Given the description of an element on the screen output the (x, y) to click on. 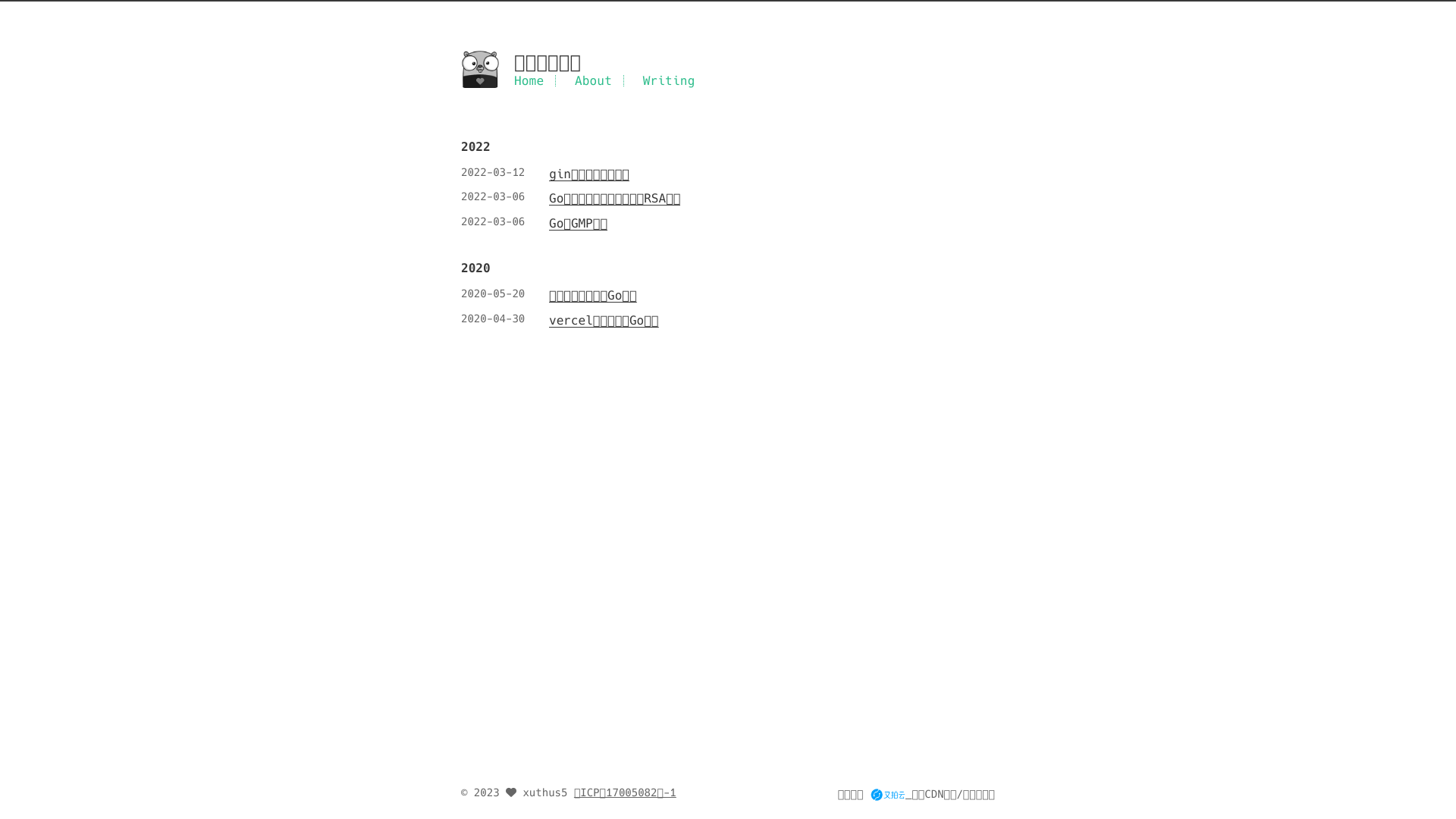
Home Element type: text (528, 80)
About Element type: text (592, 80)
Writing Element type: text (669, 80)
